Given the description of an element on the screen output the (x, y) to click on. 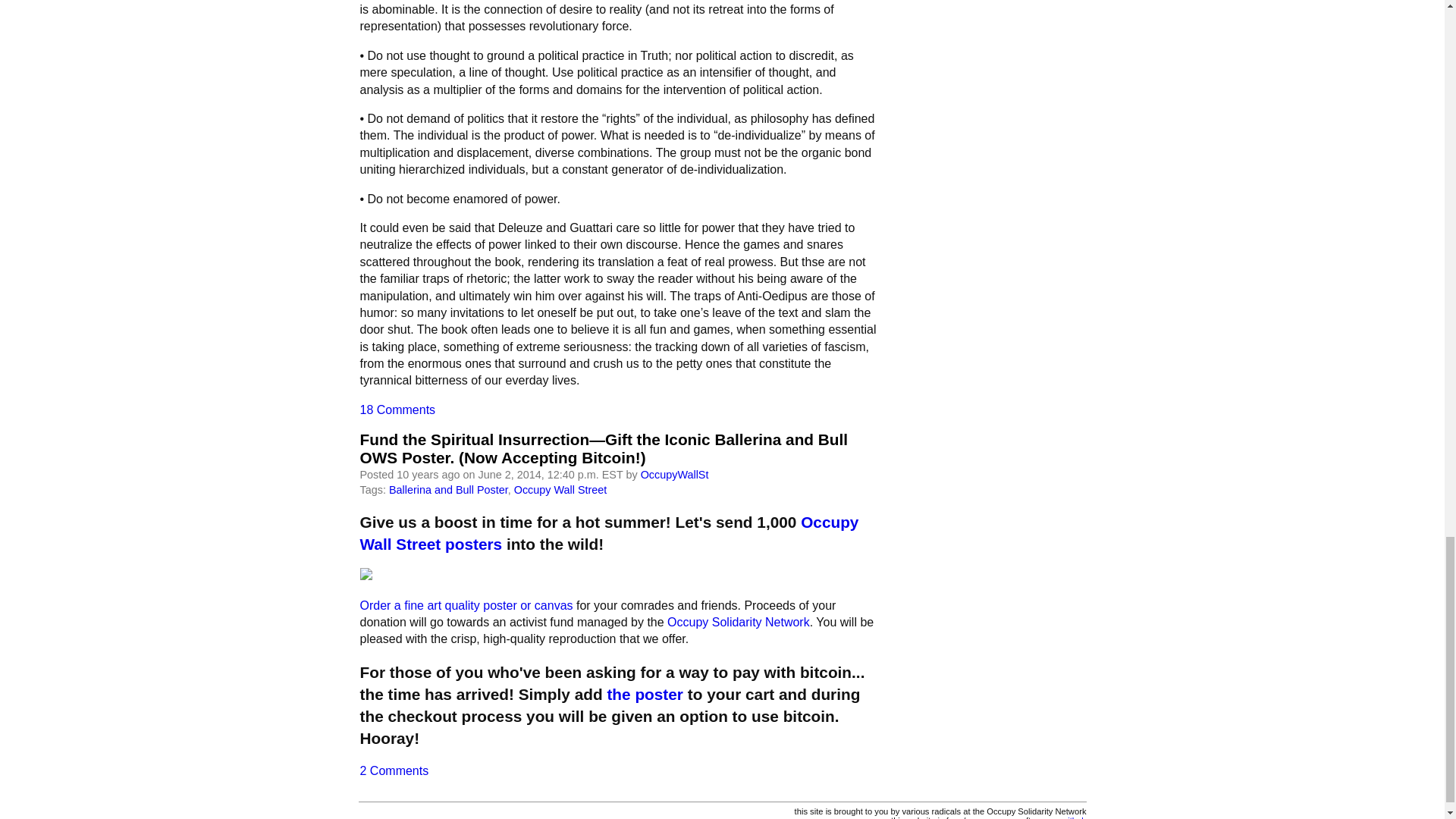
OccupyWallSt (674, 474)
Occupy Wall Street (560, 490)
Ballerina and Bull Poster (448, 490)
2 Comments (393, 770)
18 Comments (397, 409)
the poster (644, 693)
Order a fine art quality poster or canvas (465, 604)
